Given the description of an element on the screen output the (x, y) to click on. 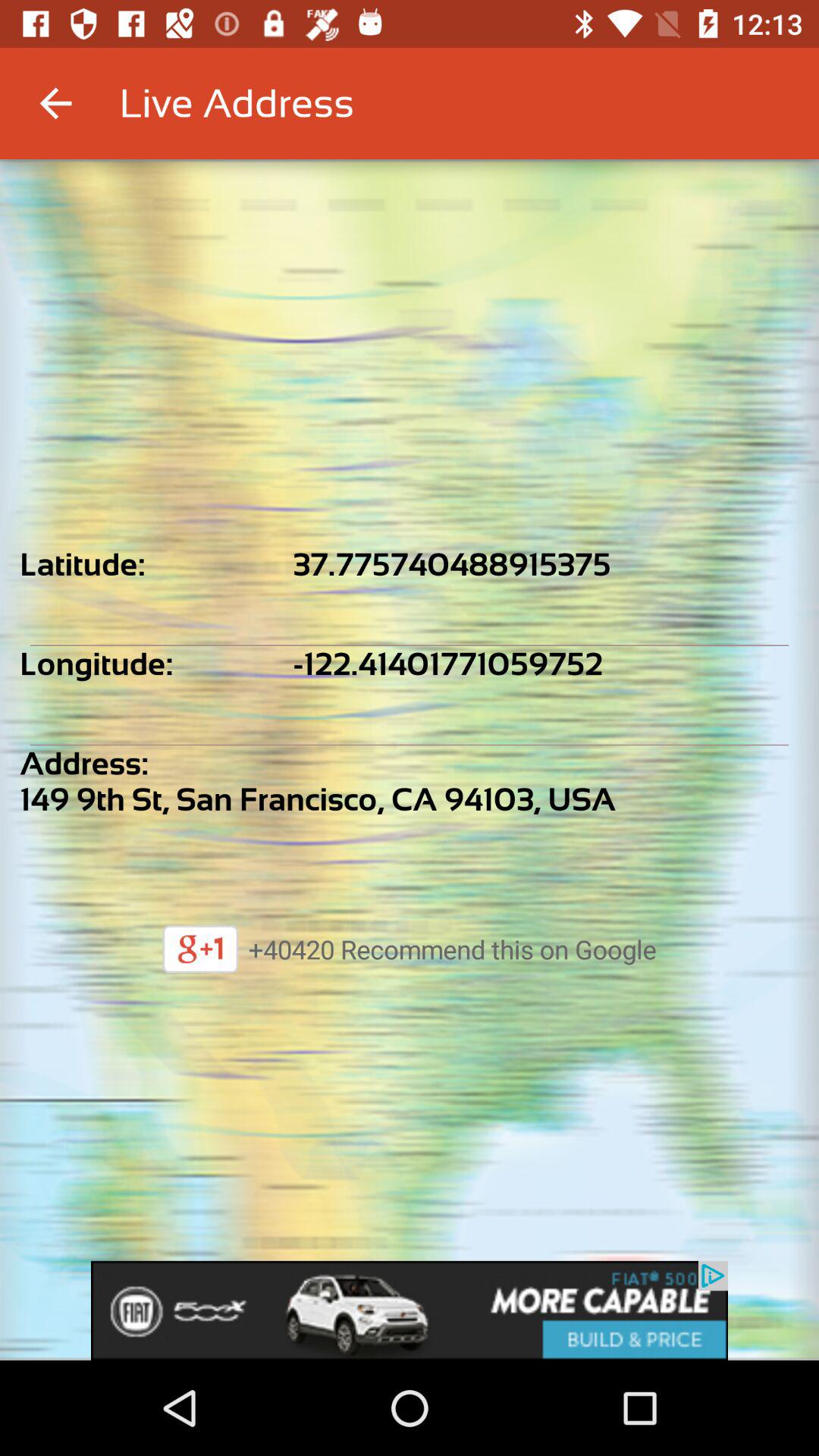
advertisement link (409, 1310)
